Given the description of an element on the screen output the (x, y) to click on. 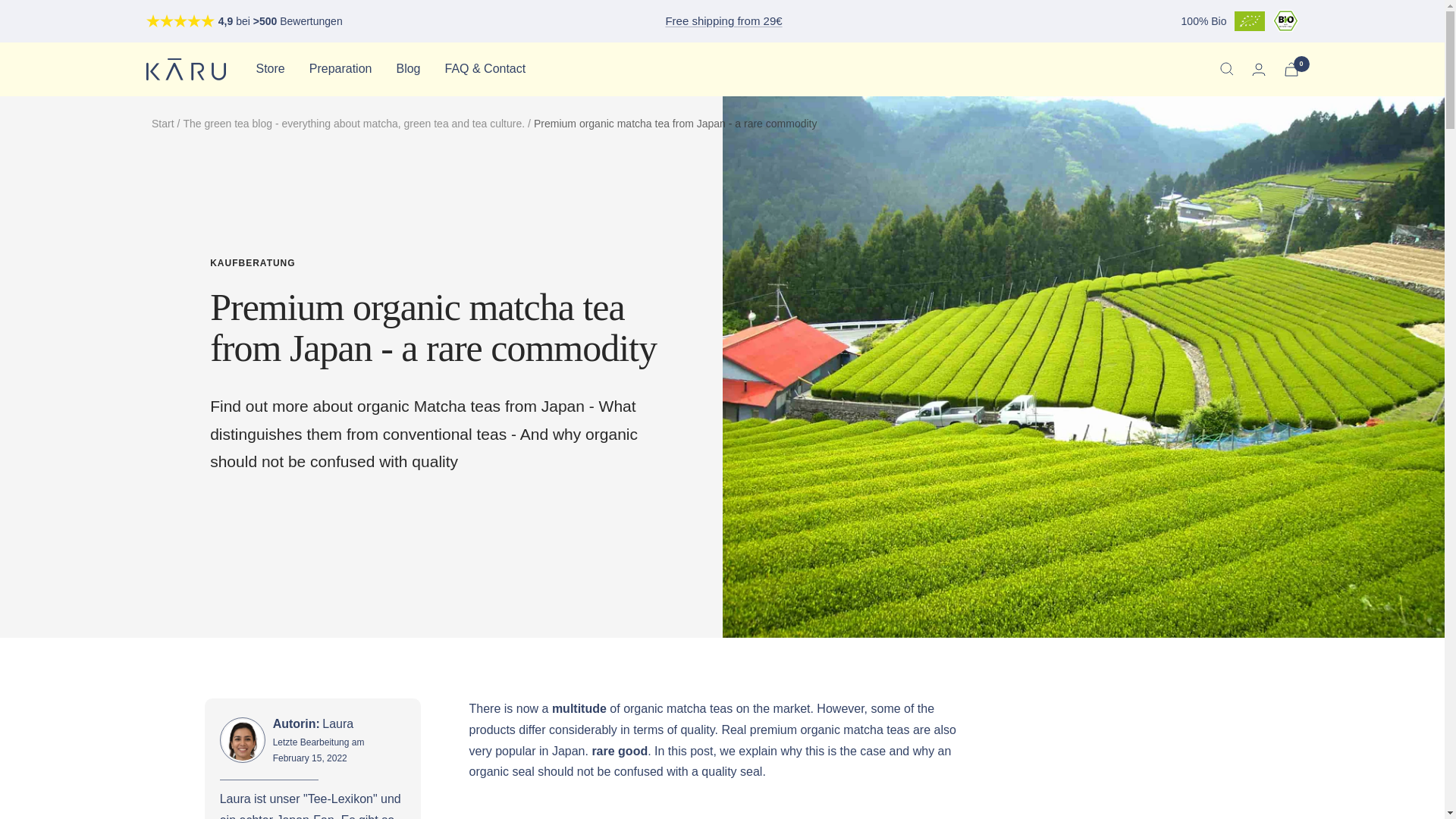
KAUFBERATUNG (438, 263)
Preparation (340, 68)
0 (1290, 69)
Blog (408, 68)
Store (270, 68)
Start (162, 123)
